Given the description of an element on the screen output the (x, y) to click on. 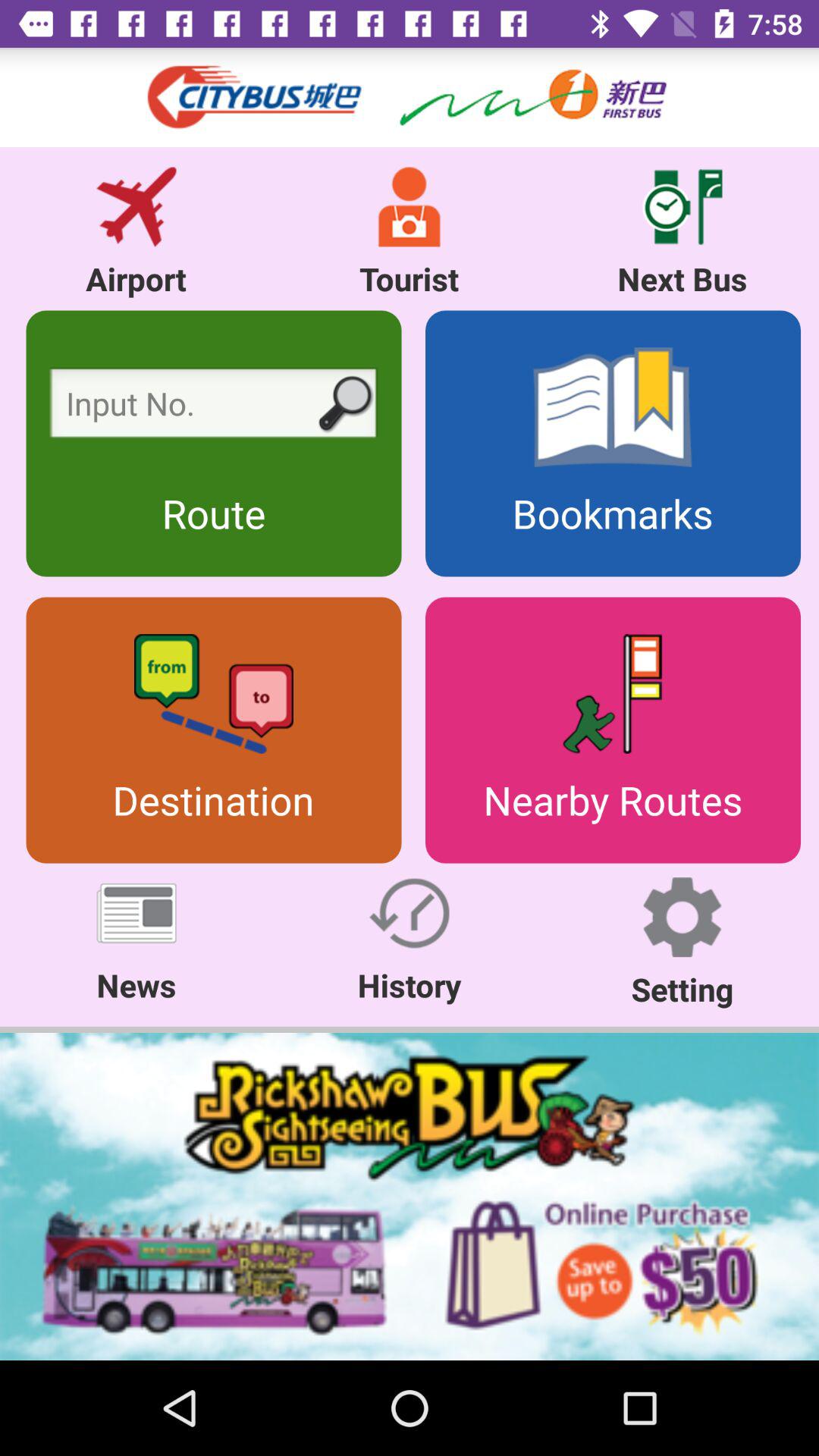
imput route (213, 407)
